Given the description of an element on the screen output the (x, y) to click on. 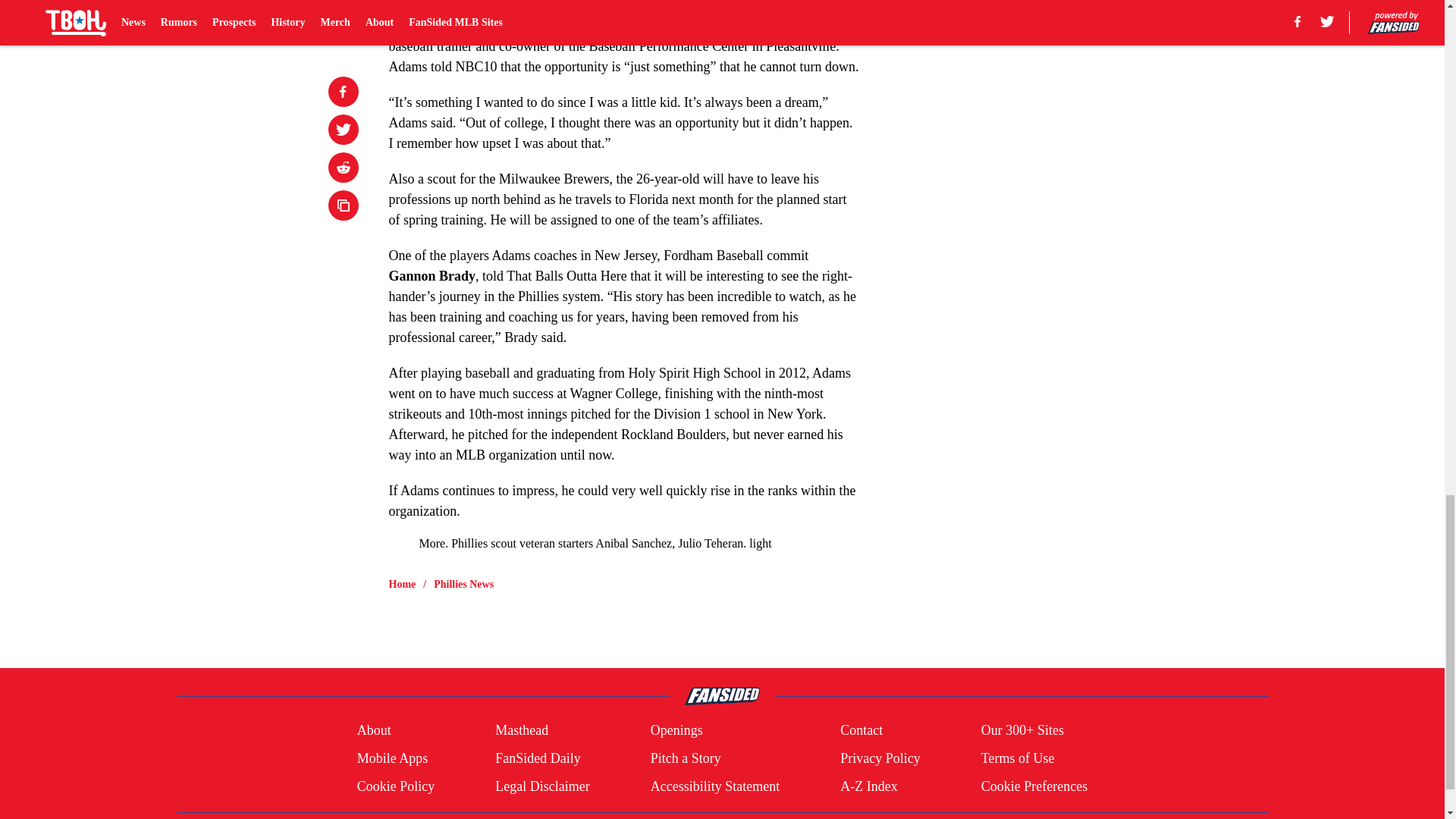
Openings (676, 730)
Masthead (521, 730)
Home (401, 584)
Terms of Use (1017, 758)
FanSided Daily (537, 758)
Privacy Policy (880, 758)
Accessibility Statement (714, 786)
Legal Disclaimer (542, 786)
Phillies News (463, 584)
Contact (861, 730)
A-Z Index (868, 786)
Pitch a Story (685, 758)
Cookie Preferences (1034, 786)
Cookie Policy (395, 786)
Mobile Apps (392, 758)
